Given the description of an element on the screen output the (x, y) to click on. 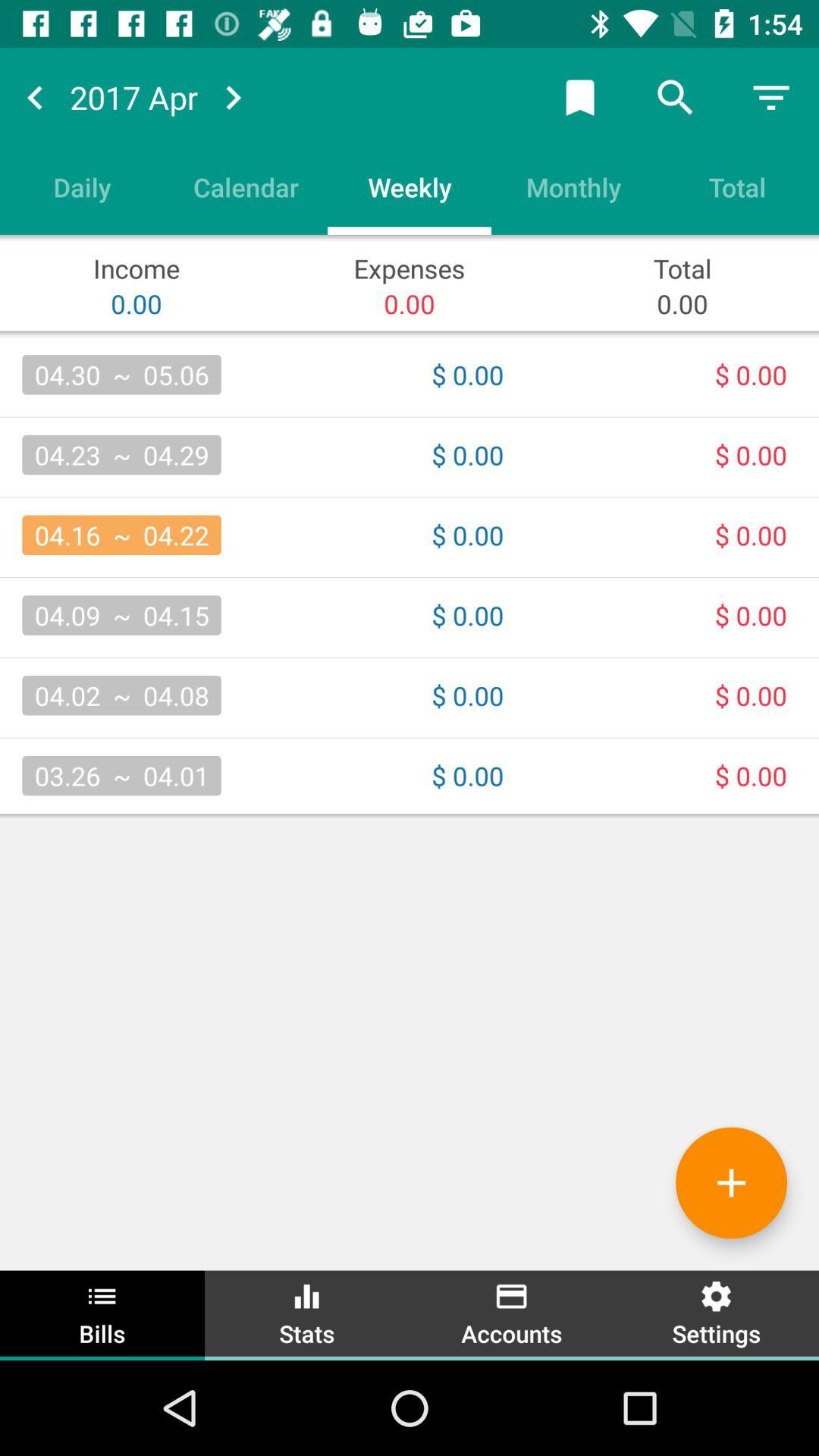
press item next to calendar icon (409, 186)
